Given the description of an element on the screen output the (x, y) to click on. 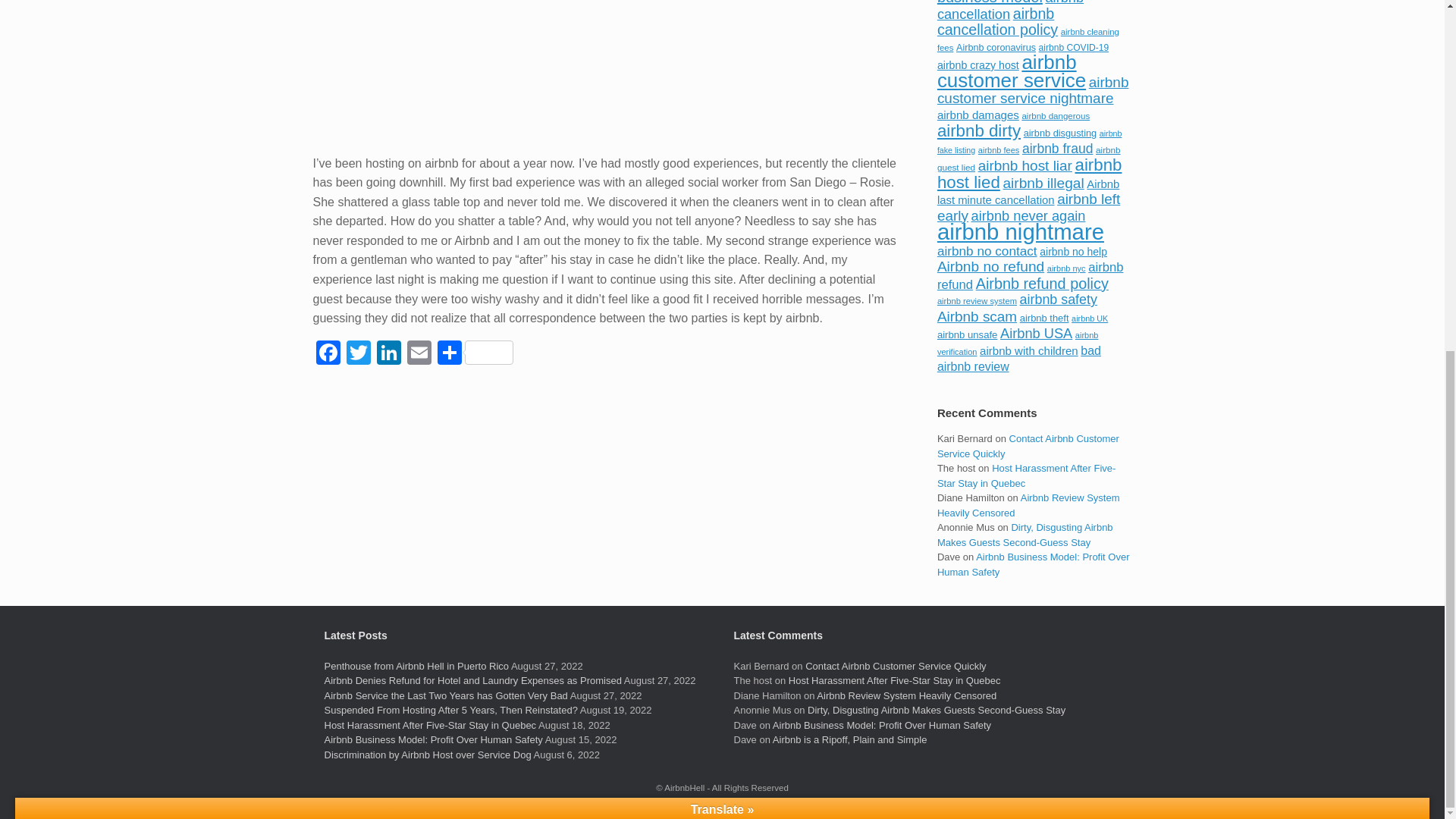
Share (474, 354)
LinkedIn (387, 354)
Twitter (357, 354)
Email (418, 354)
Facebook (327, 354)
